Given the description of an element on the screen output the (x, y) to click on. 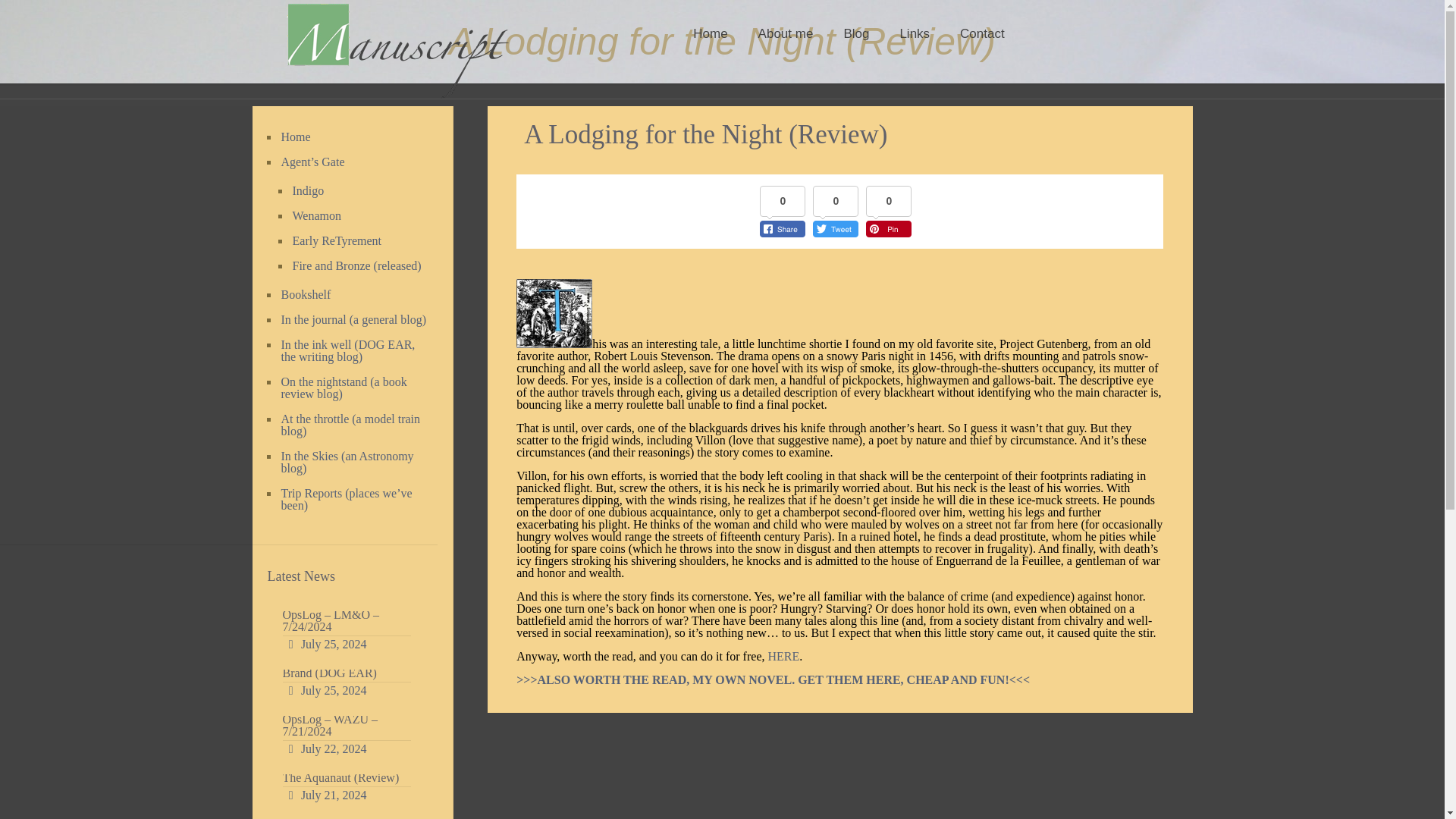
Bookshelf (354, 294)
Home (354, 137)
Early ReTyrement (355, 241)
Home (710, 33)
Wenamon (355, 216)
About me (785, 33)
Indigo (355, 191)
Robert Raymond's Blogtorium (397, 49)
HERE (783, 656)
Links (913, 33)
Contact (982, 33)
